Given the description of an element on the screen output the (x, y) to click on. 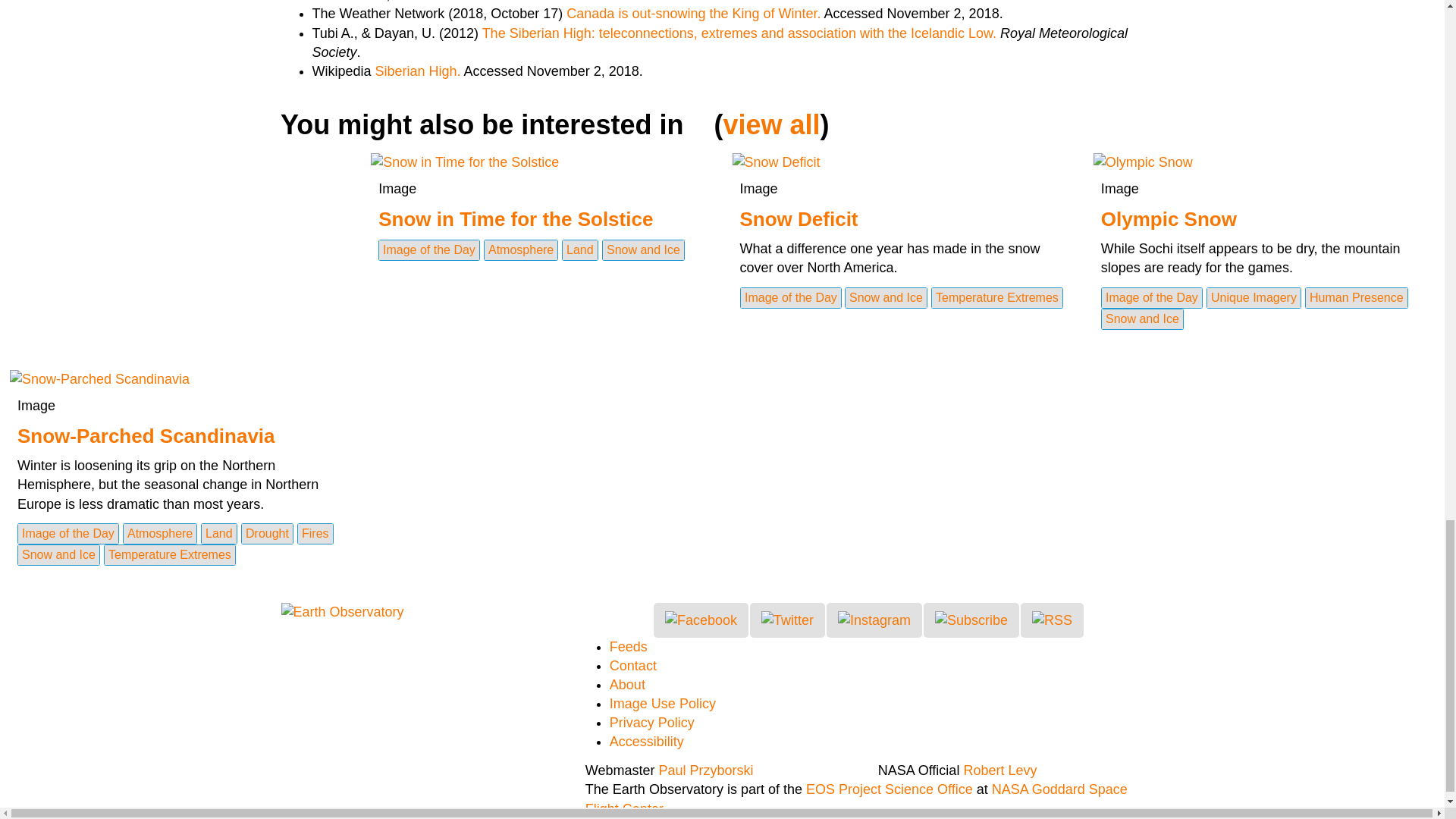
Instagram (874, 620)
Facebook (700, 620)
Earth Observatory (342, 611)
Twitter (787, 620)
Subscribe (971, 620)
RSS (1051, 620)
